Given the description of an element on the screen output the (x, y) to click on. 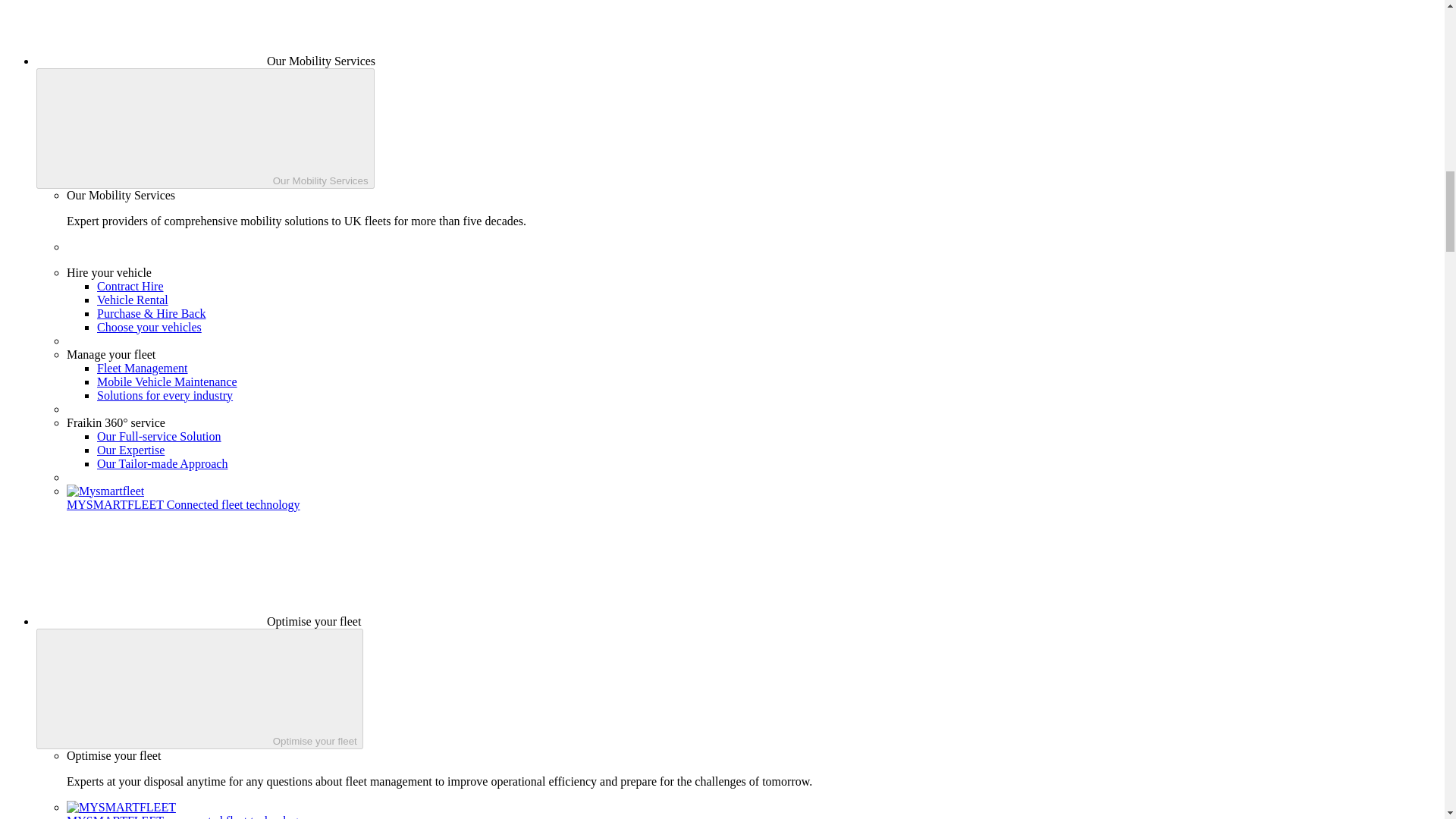
Our Full-service Solution (159, 436)
Our Tailor-made Approach (162, 463)
Fleet Management (142, 367)
Optimise your fleet (199, 688)
Mobile Vehicle Maintenance (167, 381)
Choose your vehicles (149, 327)
Contract Hire (130, 286)
Our Mobility Services (205, 128)
Solutions for every industry (164, 395)
Vehicle Rental (132, 299)
Our Expertise (130, 449)
